Given the description of an element on the screen output the (x, y) to click on. 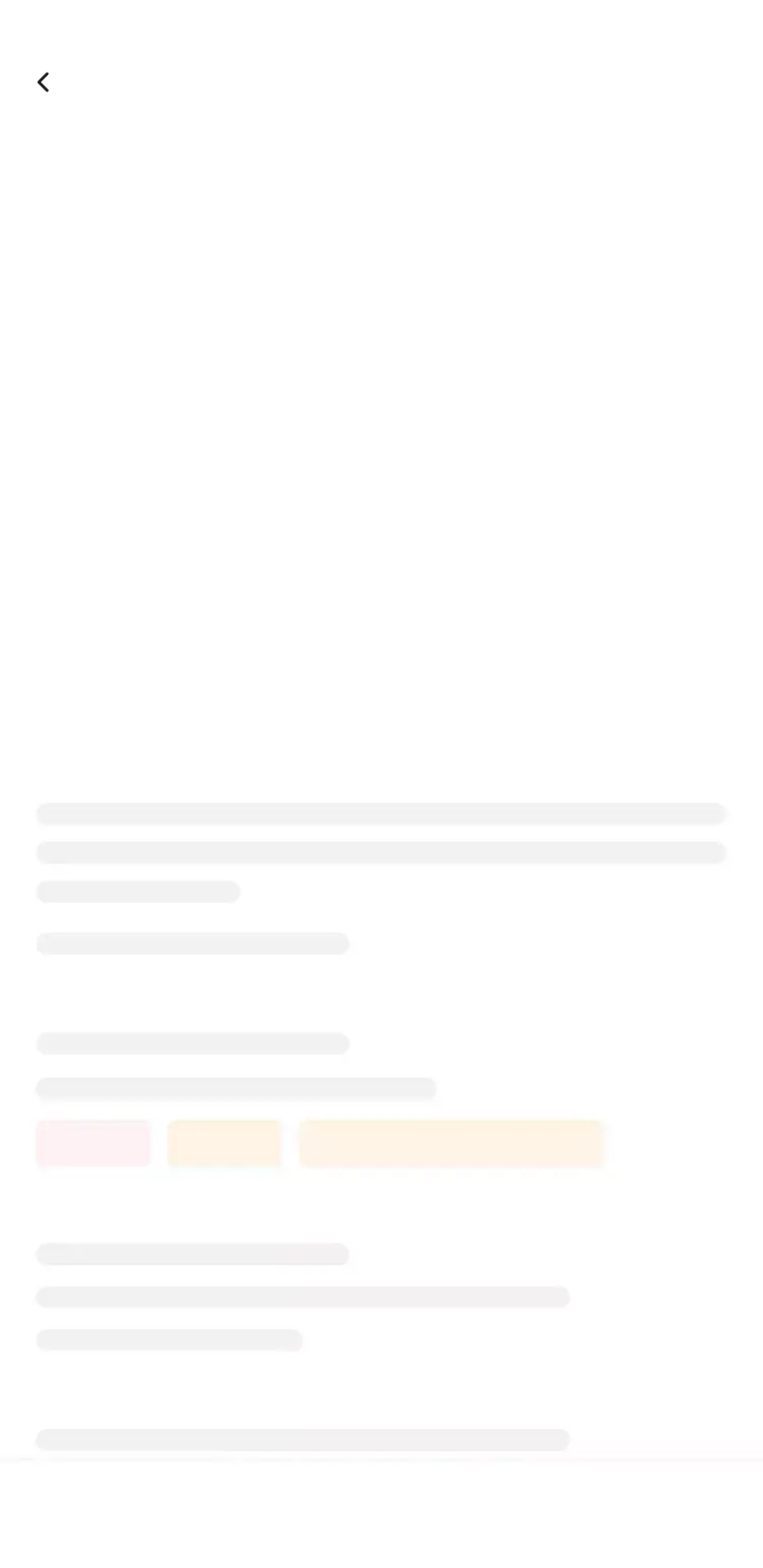
Navigate up (44, 82)
